Given the description of an element on the screen output the (x, y) to click on. 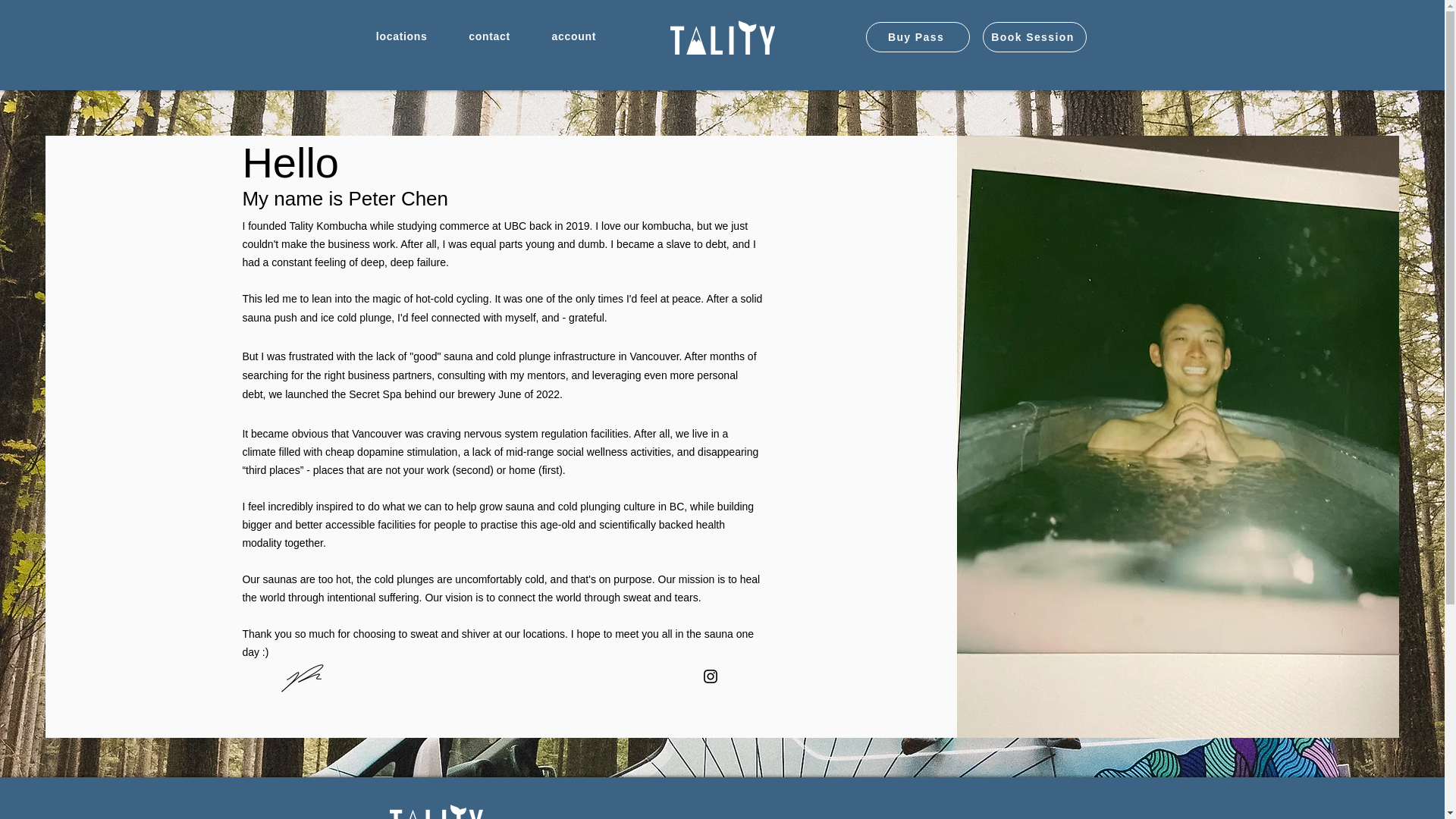
Book Session (1034, 37)
contact (489, 36)
Buy Pass (917, 37)
account (573, 36)
